Given the description of an element on the screen output the (x, y) to click on. 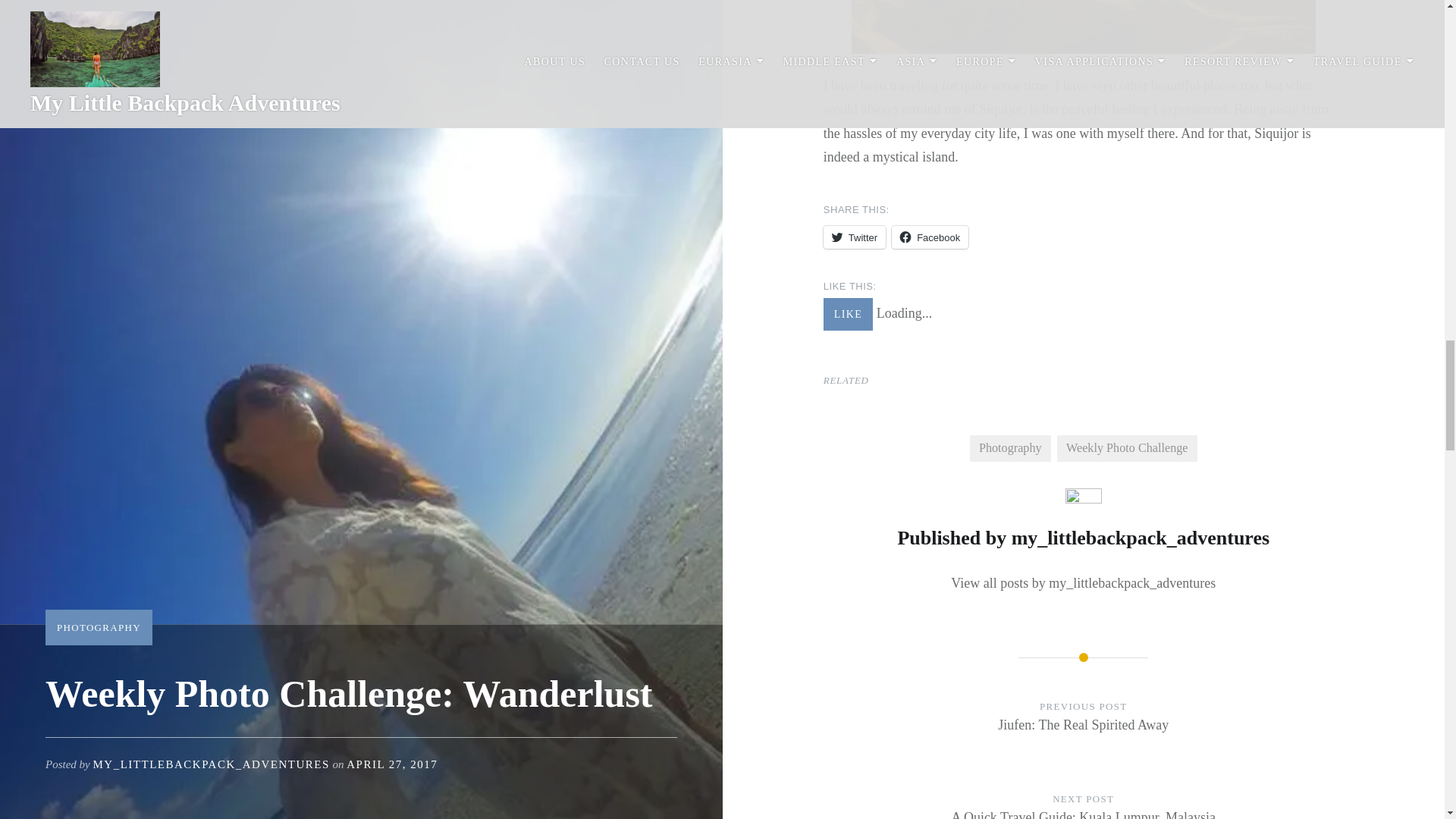
Click to share on Twitter (854, 237)
Click to share on Facebook (929, 237)
